Given the description of an element on the screen output the (x, y) to click on. 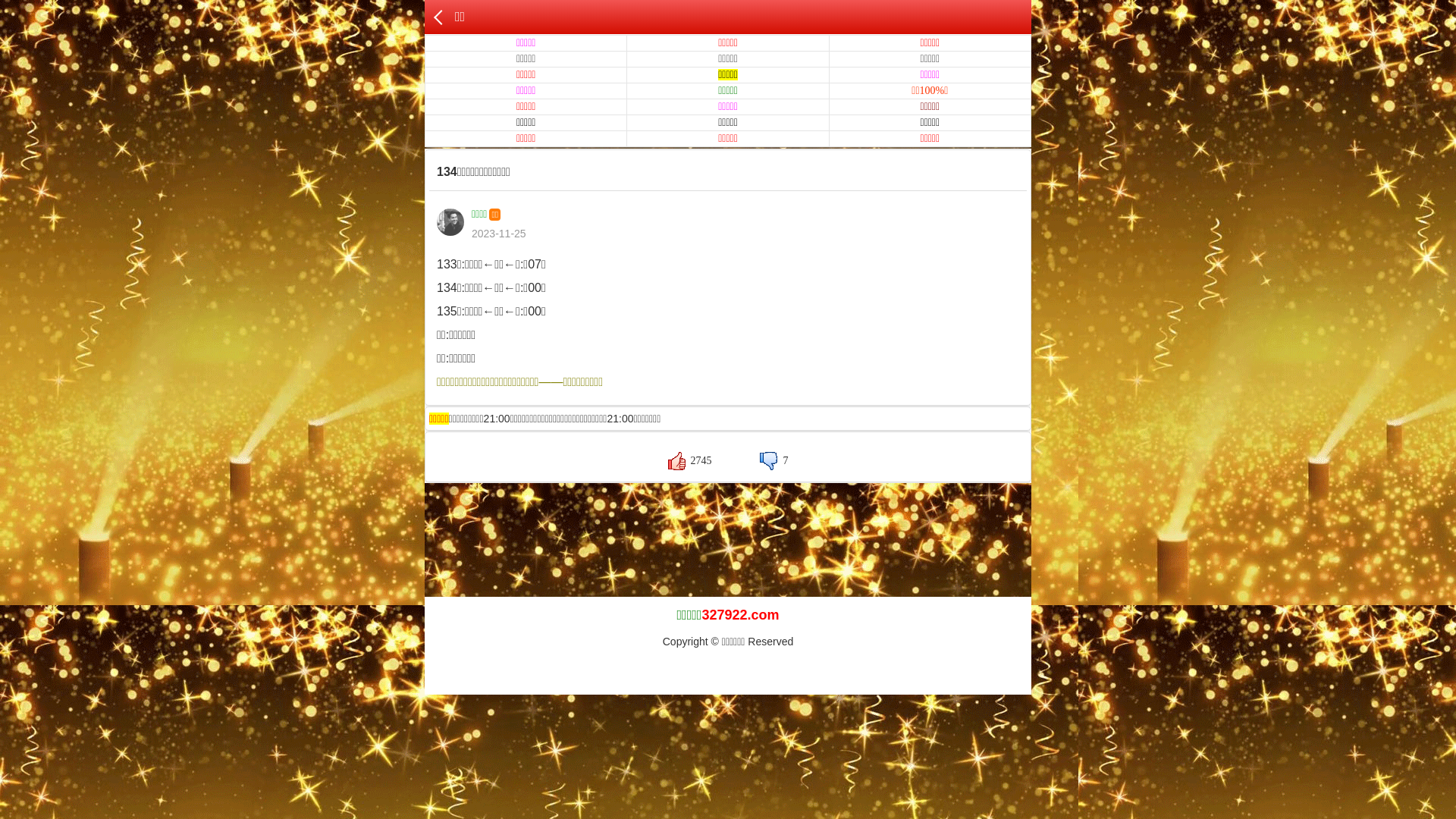
2745 Element type: text (690, 460)
7 Element type: text (773, 460)
